Given the description of an element on the screen output the (x, y) to click on. 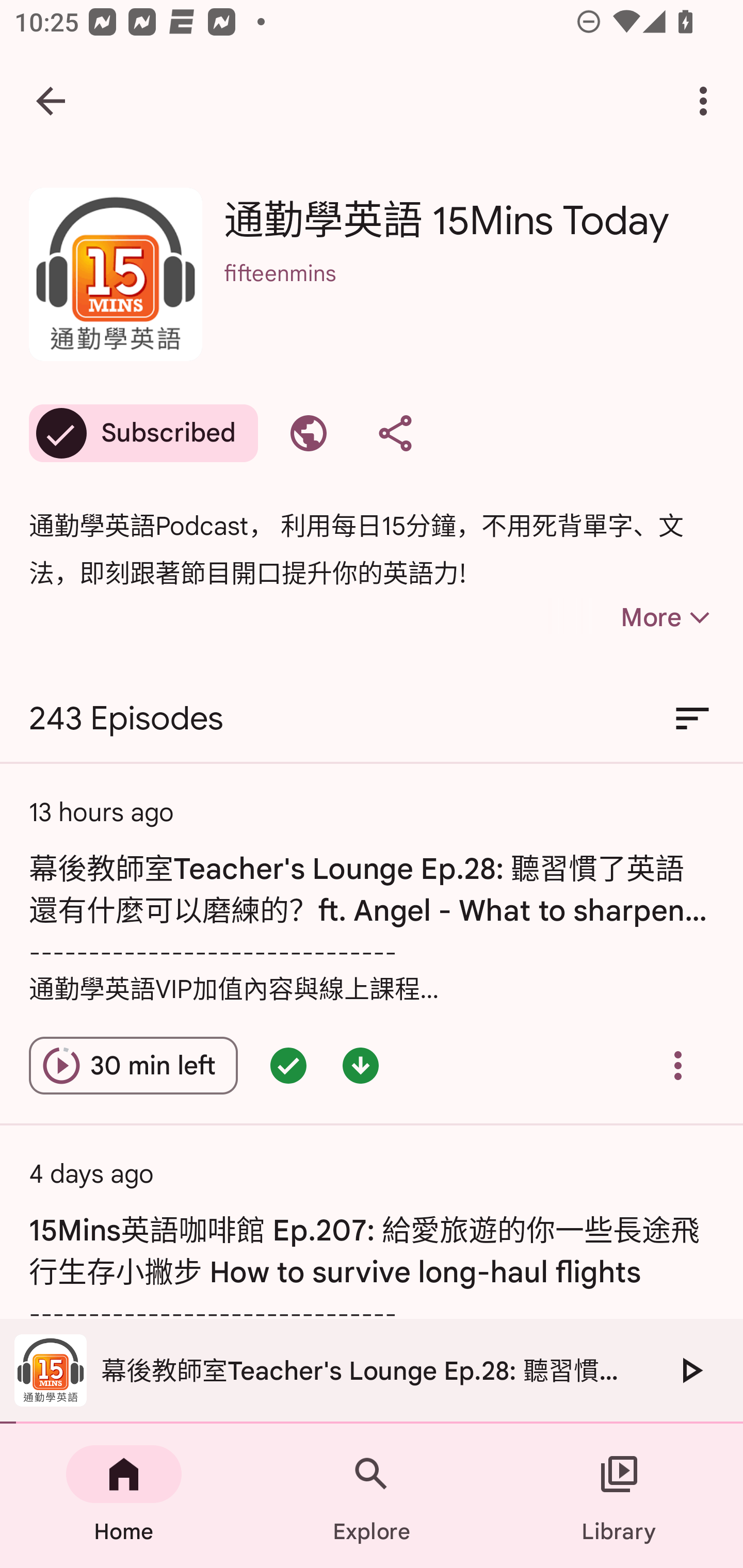
Navigate up (50, 101)
More options (706, 101)
fifteenmins (468, 300)
Subscribed (142, 433)
Visit website (308, 433)
Share (395, 433)
More (631, 616)
Sort (692, 718)
Episode queued - double tap for options (288, 1065)
Episode downloaded - double tap for options (360, 1065)
Overflow menu (677, 1065)
Play (690, 1370)
Explore (371, 1495)
Library (619, 1495)
